Given the description of an element on the screen output the (x, y) to click on. 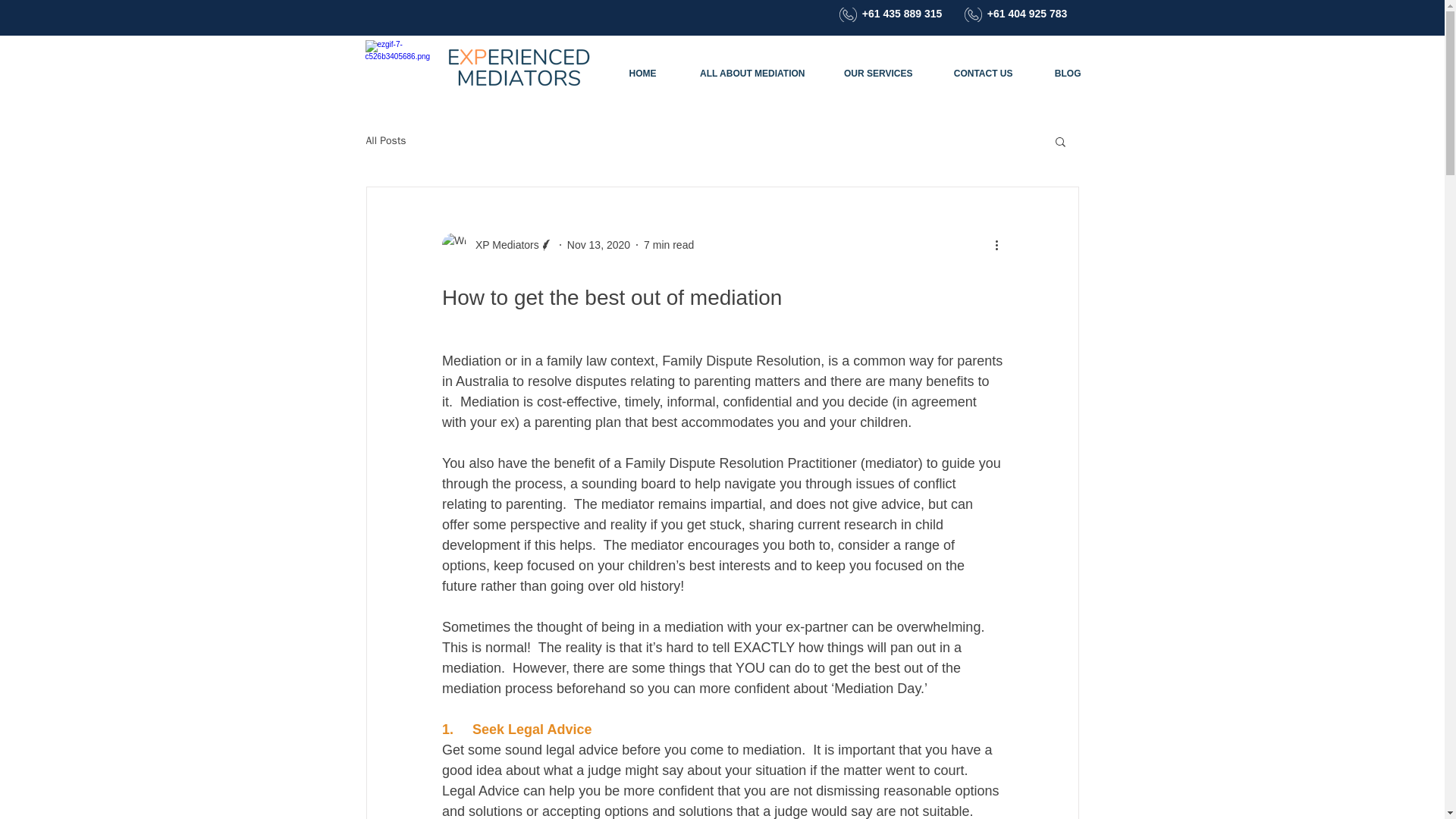
Nov 13, 2020 (598, 244)
HOME (630, 73)
XP Mediators (501, 244)
All Posts (385, 141)
BLOG (1057, 73)
XP Mediators (497, 244)
7 min read (668, 244)
CONTACT US (973, 73)
